Given the description of an element on the screen output the (x, y) to click on. 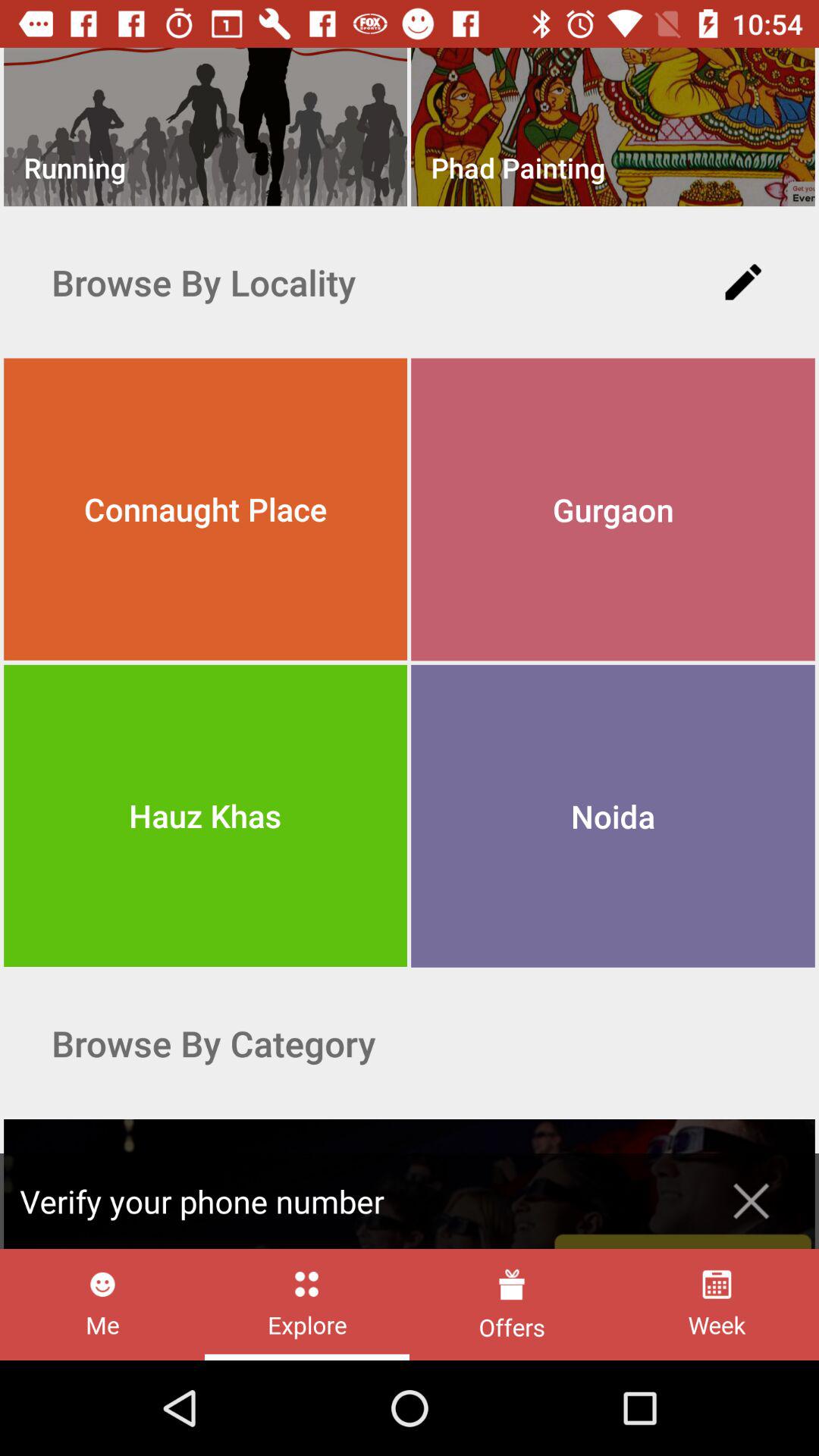
open item next to explore icon (511, 1304)
